Given the description of an element on the screen output the (x, y) to click on. 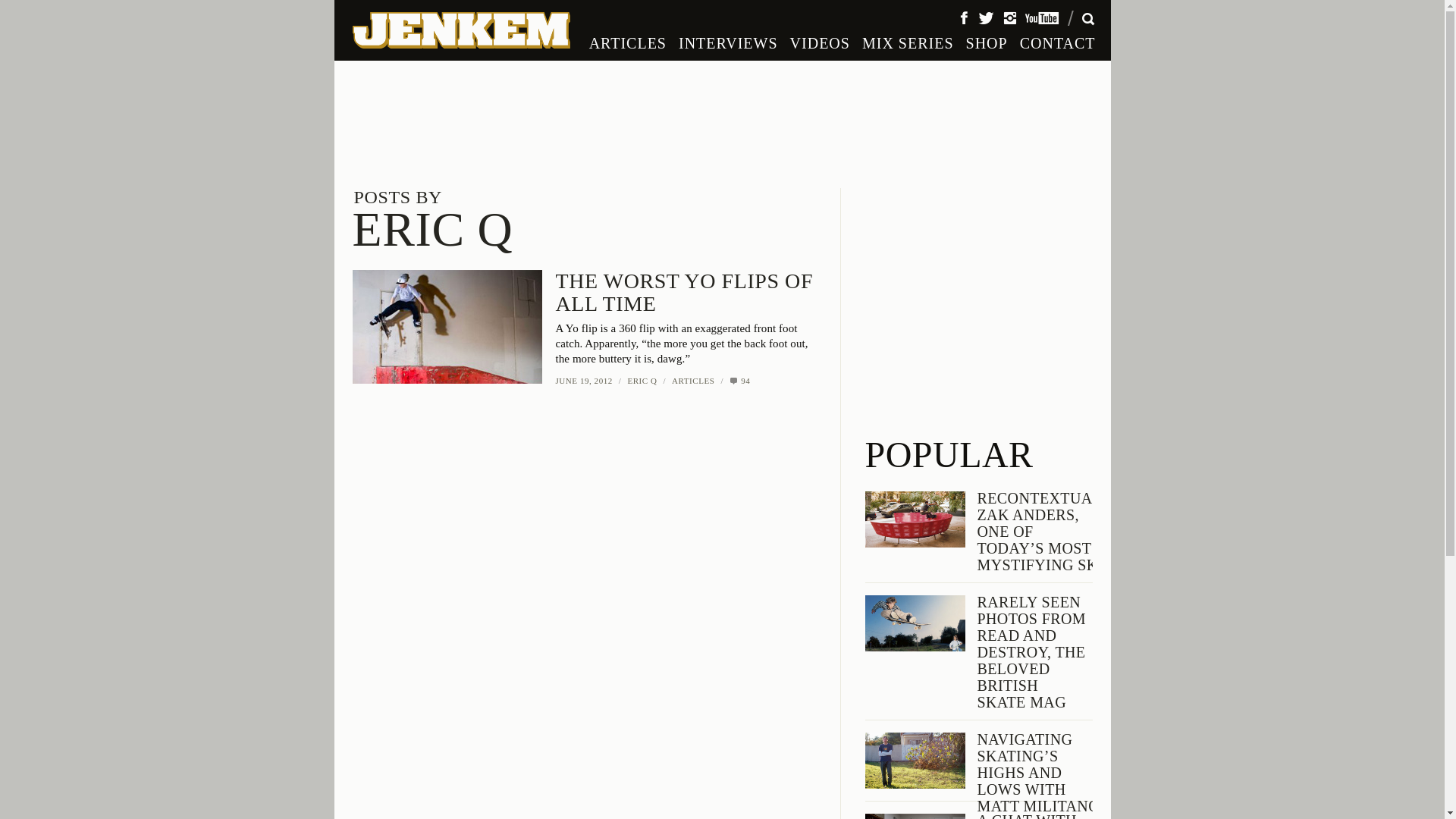
View all posts in ARTICLES (692, 379)
Twitter (984, 17)
Search (1218, 18)
3rd party ad content (978, 301)
Jenkem Magazine (432, 219)
THE WORST YO FLIPS OF ALL TIME (460, 29)
Instagram (582, 292)
YouTube (1008, 17)
MIX SERIES (1042, 17)
JUNE 19, 2012 (907, 42)
ARTICLES (582, 379)
COMMENTS: 94 (627, 42)
ERIC Q (739, 379)
3rd party ad content (641, 379)
